Given the description of an element on the screen output the (x, y) to click on. 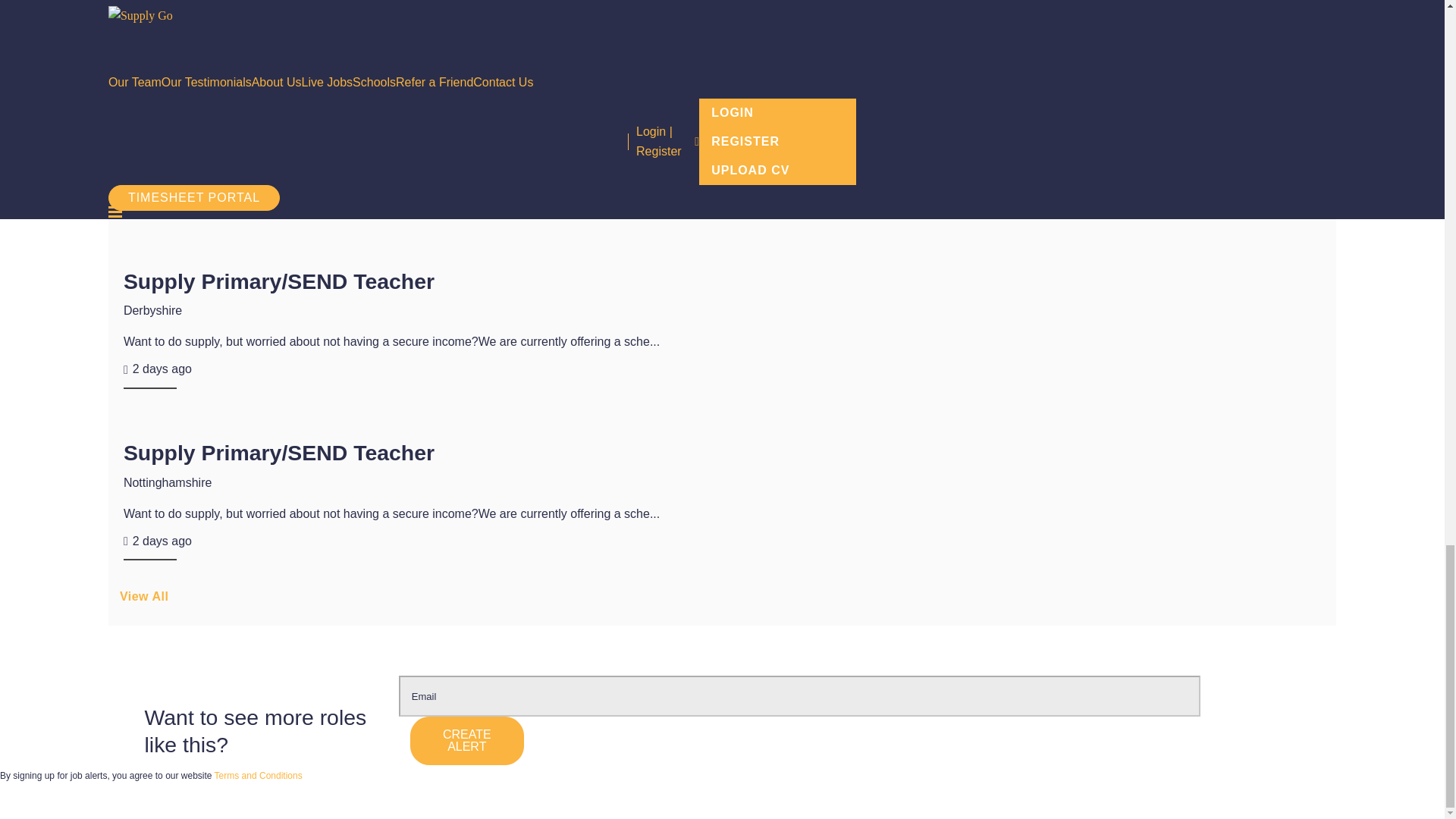
View All (721, 602)
Terms and Conditions (258, 775)
CREATE ALERT (467, 740)
